Given the description of an element on the screen output the (x, y) to click on. 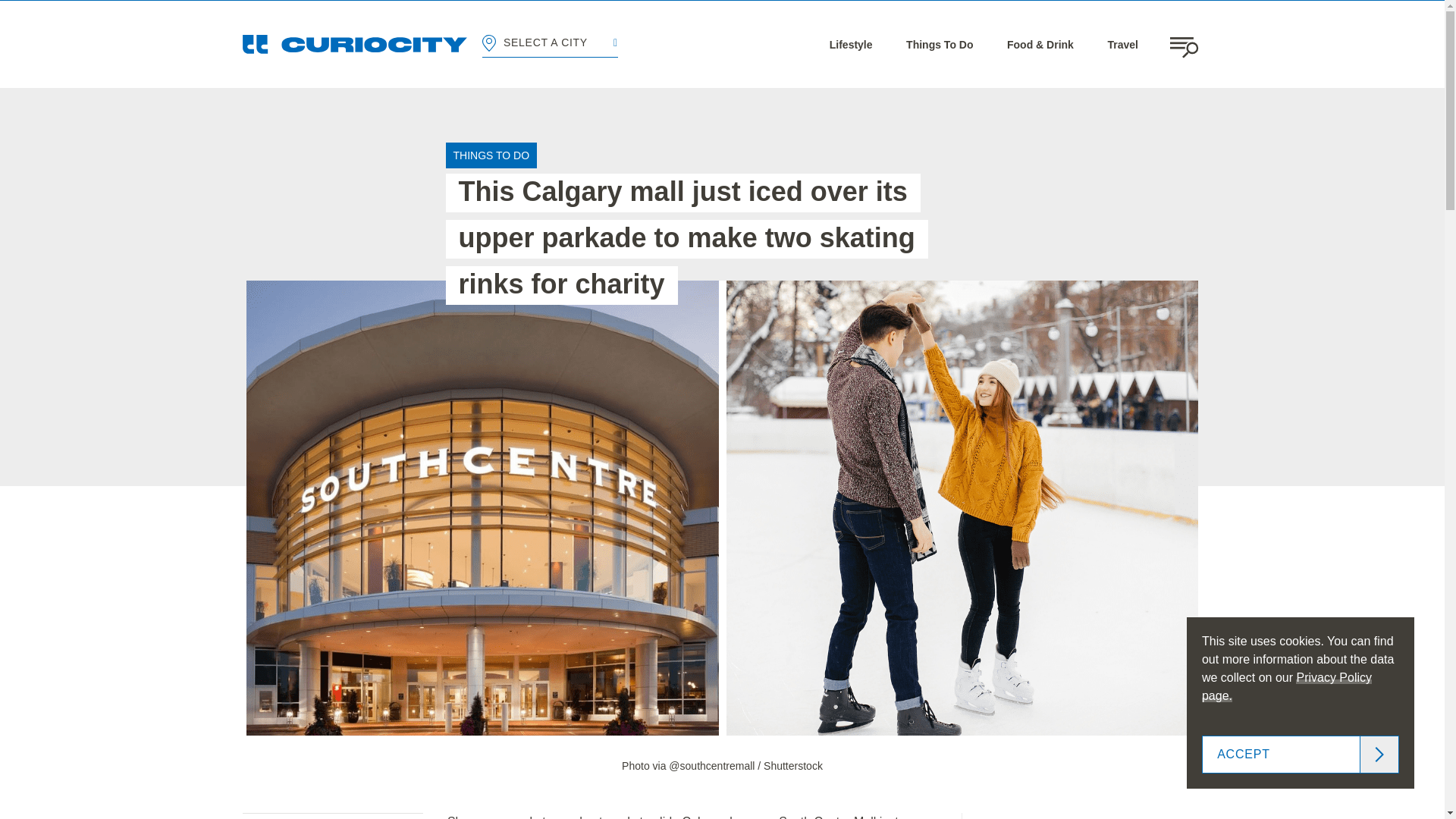
Lifestyle (850, 44)
Things To Do (938, 44)
ACCEPT (1300, 754)
Travel (1121, 44)
SELECT A CITY (549, 44)
goes to Home (355, 43)
Privacy Policy page. (1286, 685)
